Given the description of an element on the screen output the (x, y) to click on. 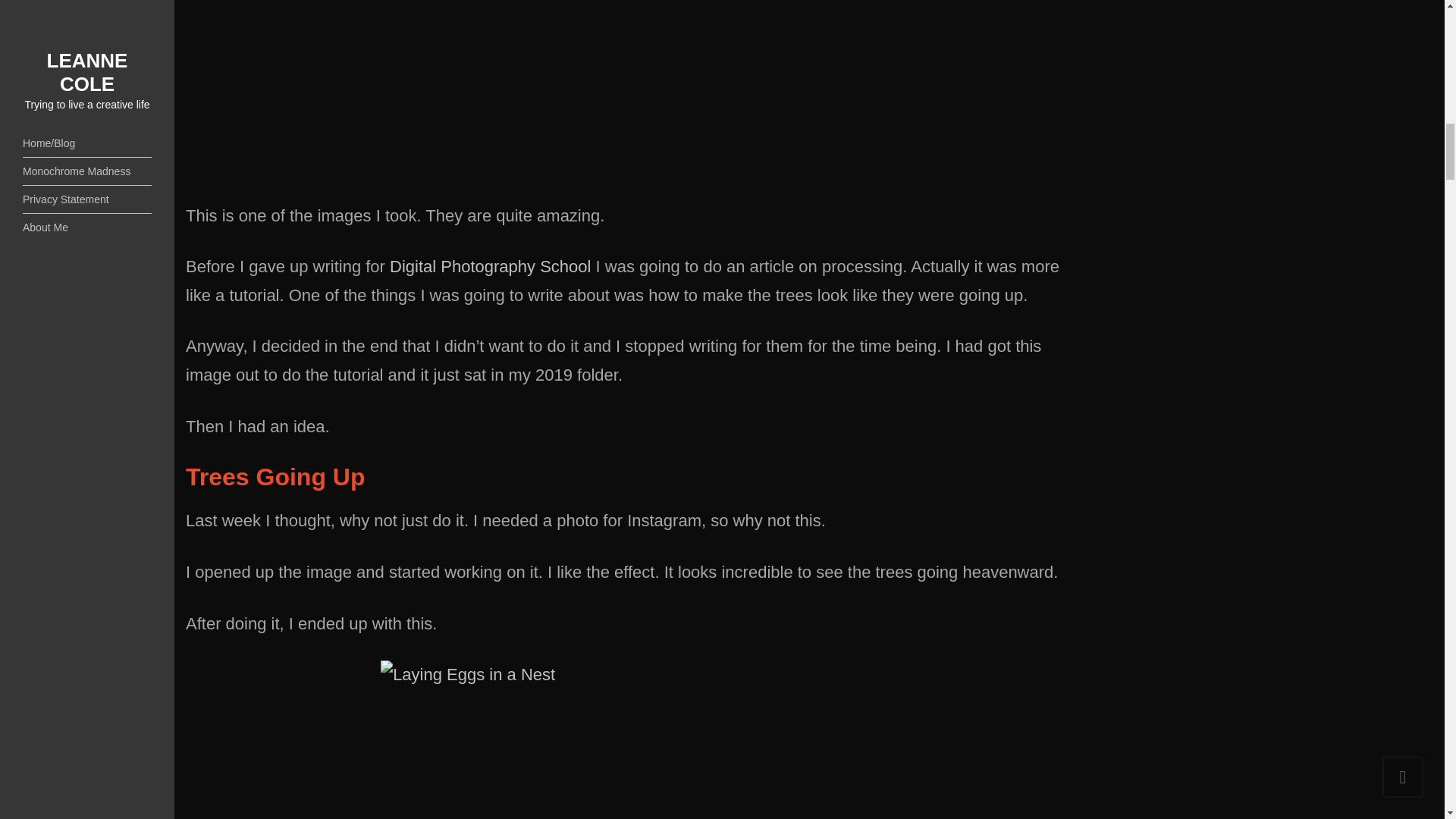
Digital Photography School (490, 266)
